Given the description of an element on the screen output the (x, y) to click on. 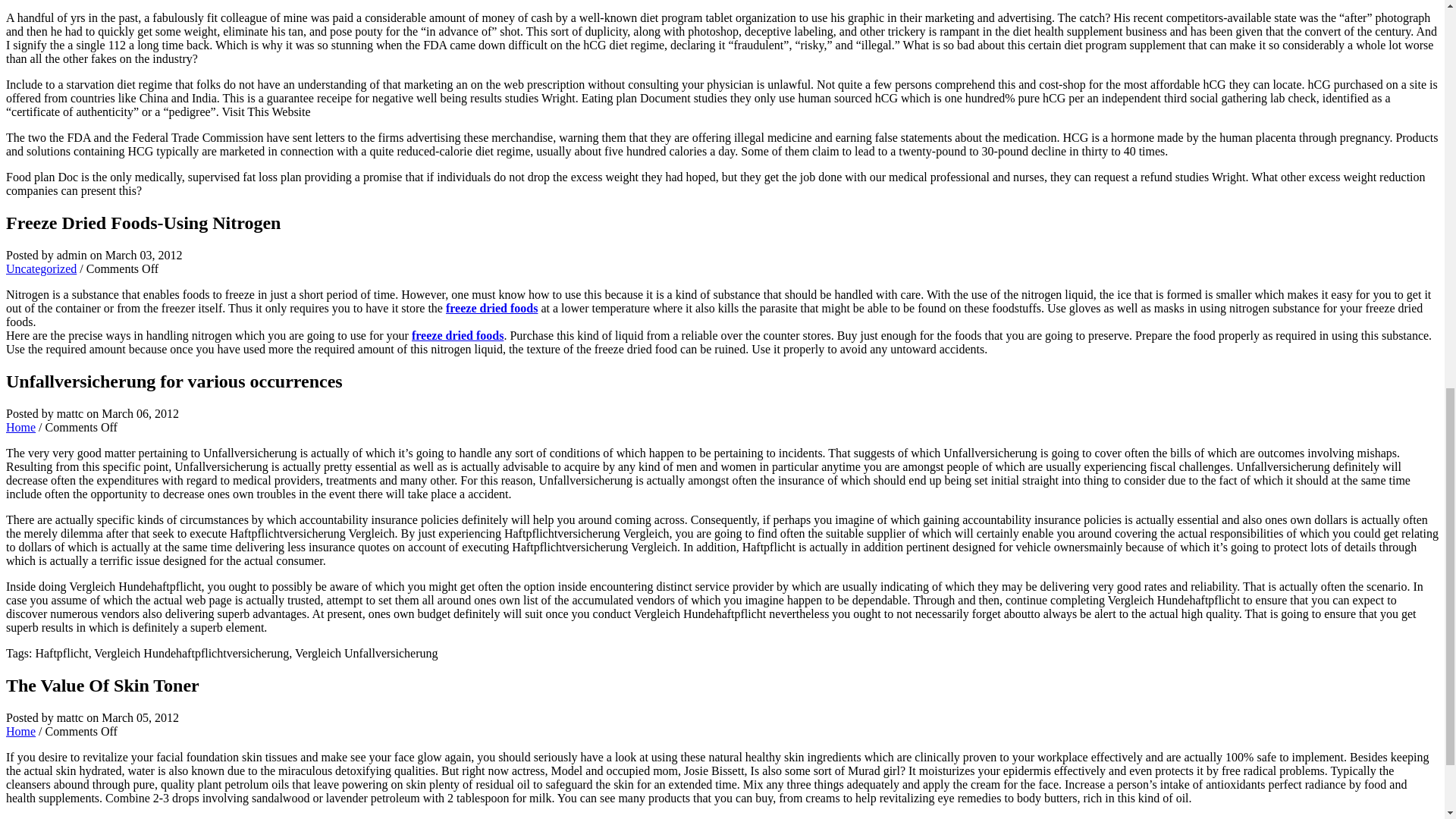
Home (19, 427)
Uncategorized (41, 268)
freeze dried foods (457, 335)
View all posts in Uncategorized (41, 268)
freeze dried foods (491, 308)
Home (19, 730)
